Given the description of an element on the screen output the (x, y) to click on. 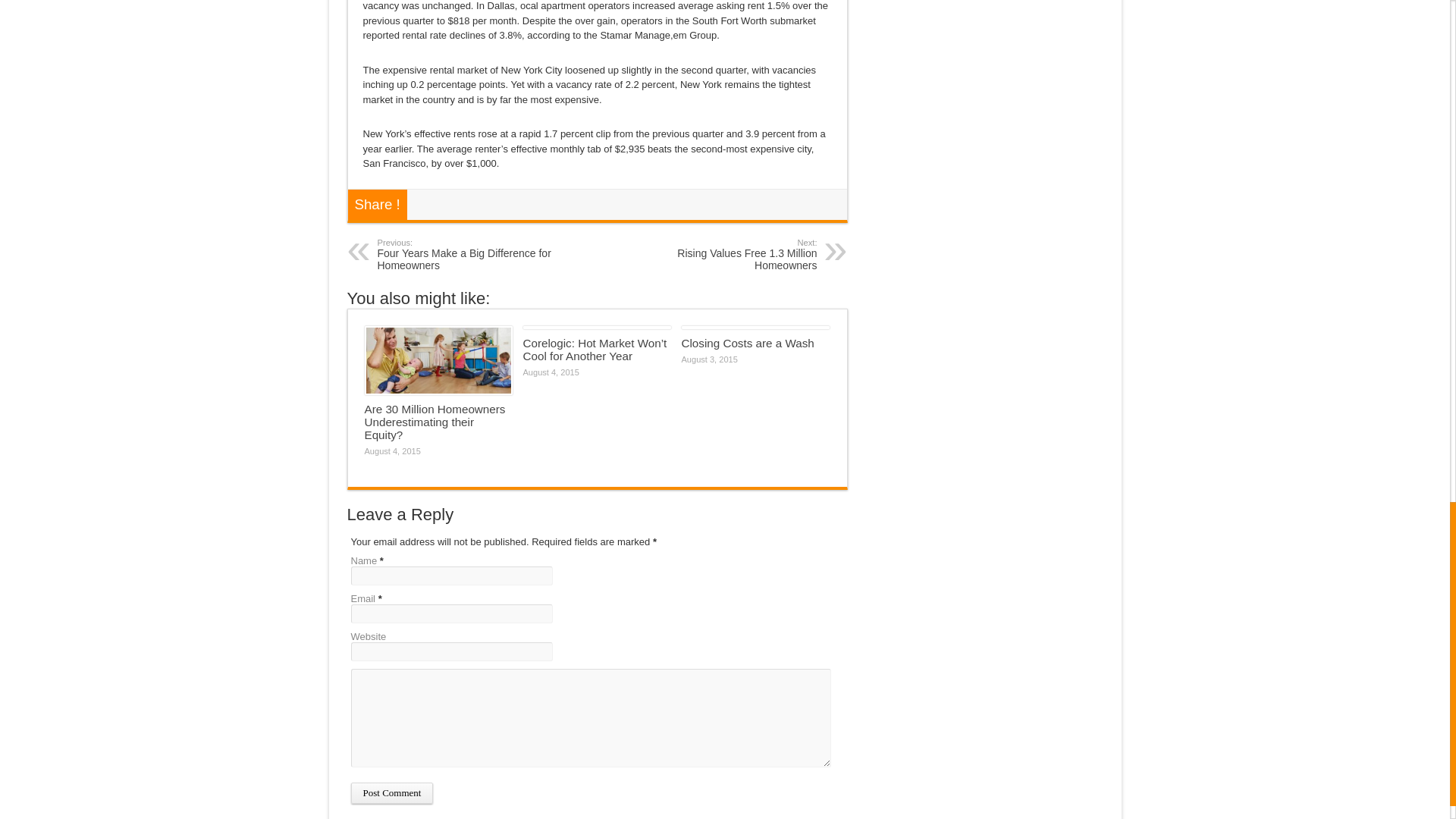
Permalink to Closing Costs are a Wash (747, 342)
Post Comment (391, 792)
